Given the description of an element on the screen output the (x, y) to click on. 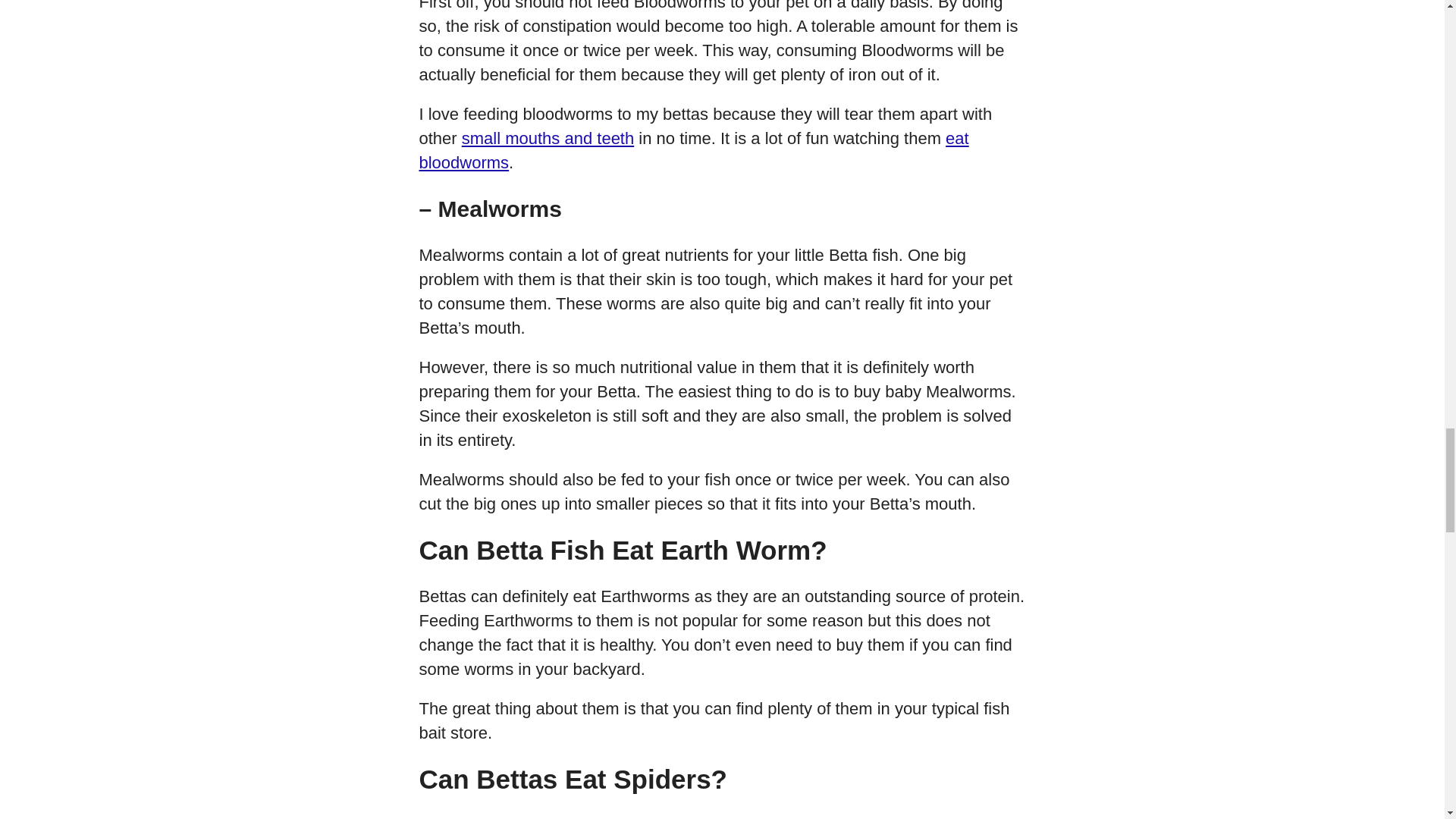
small mouths and teeth (547, 138)
eat bloodworms (693, 149)
